Given the description of an element on the screen output the (x, y) to click on. 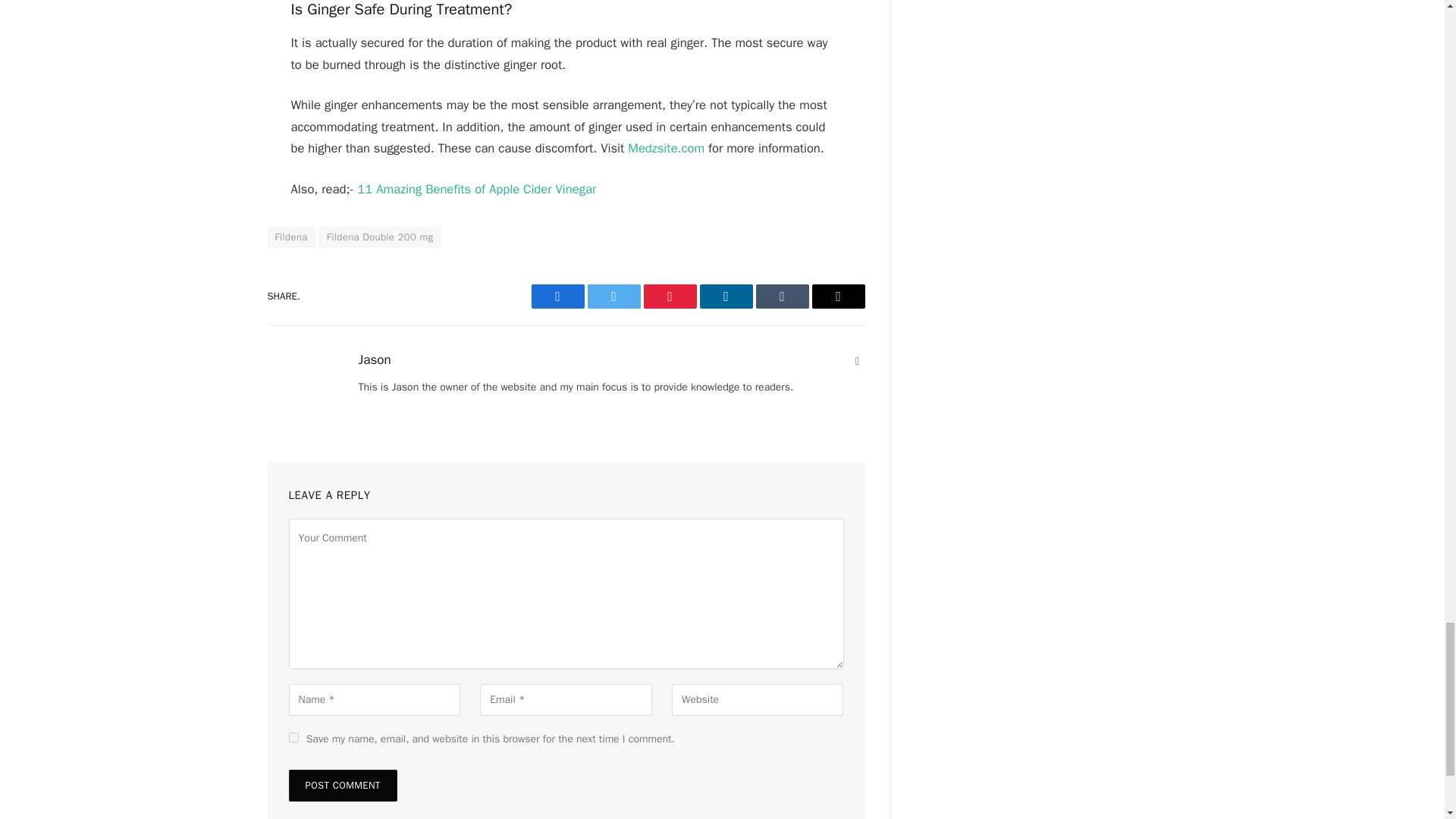
Post Comment (342, 785)
yes (293, 737)
